Given the description of an element on the screen output the (x, y) to click on. 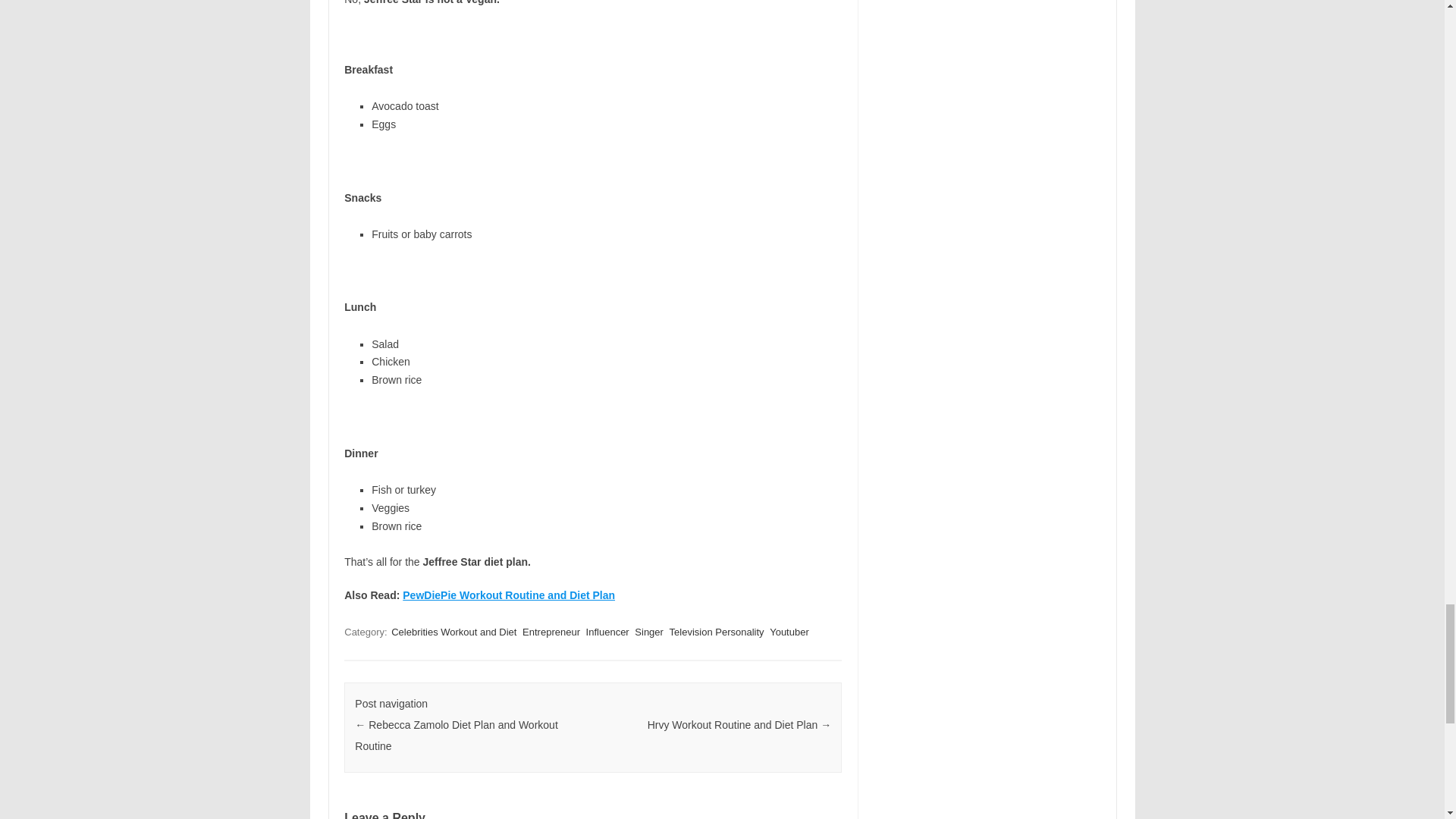
Singer (649, 631)
Television Personality (716, 631)
Celebrities Workout and Diet (454, 631)
Youtuber (789, 631)
PewDiePie Workout Routine and Diet Plan (508, 594)
Entrepreneur (550, 631)
Influencer (607, 631)
